Given the description of an element on the screen output the (x, y) to click on. 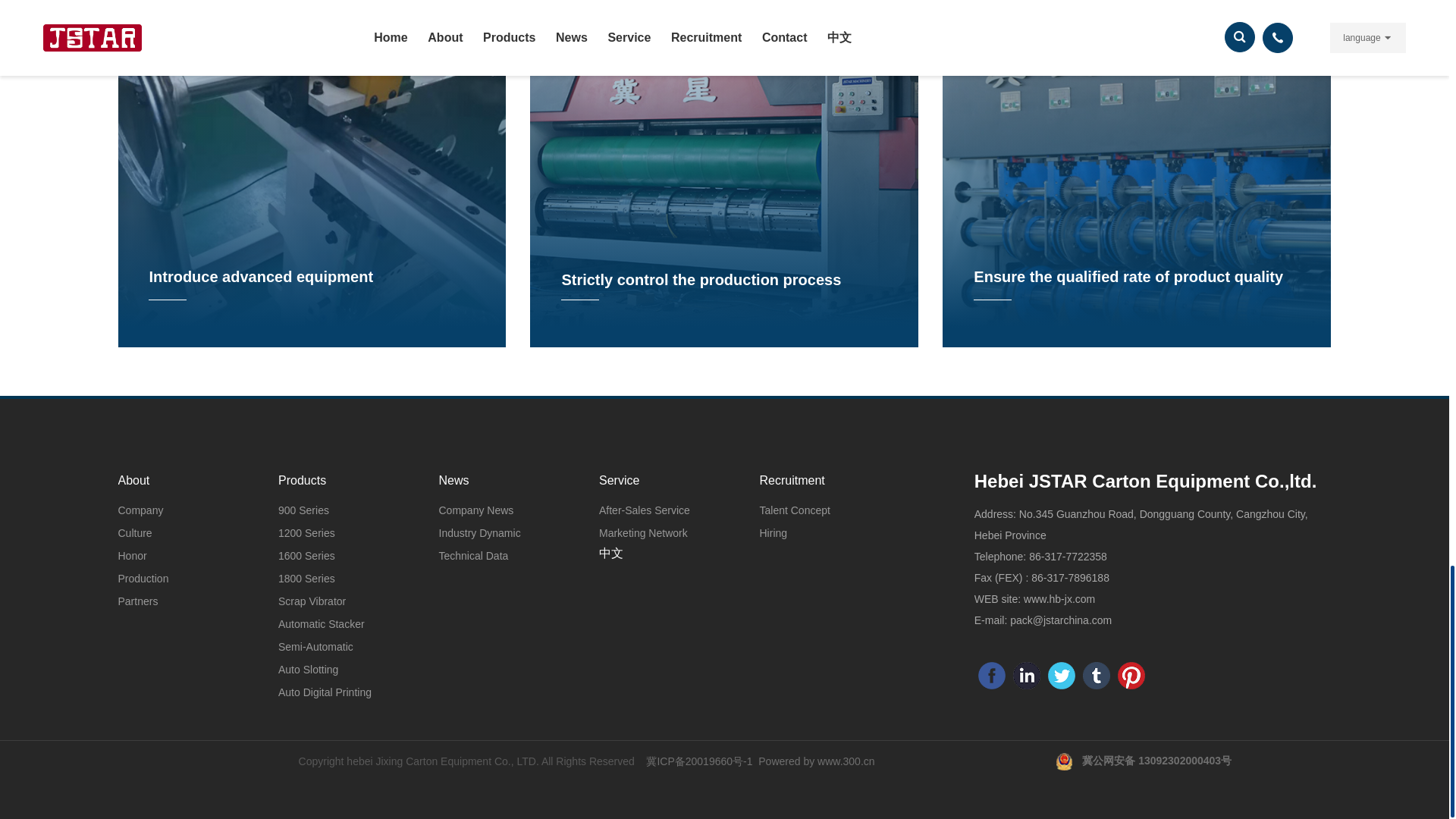
About (176, 480)
